Given the description of an element on the screen output the (x, y) to click on. 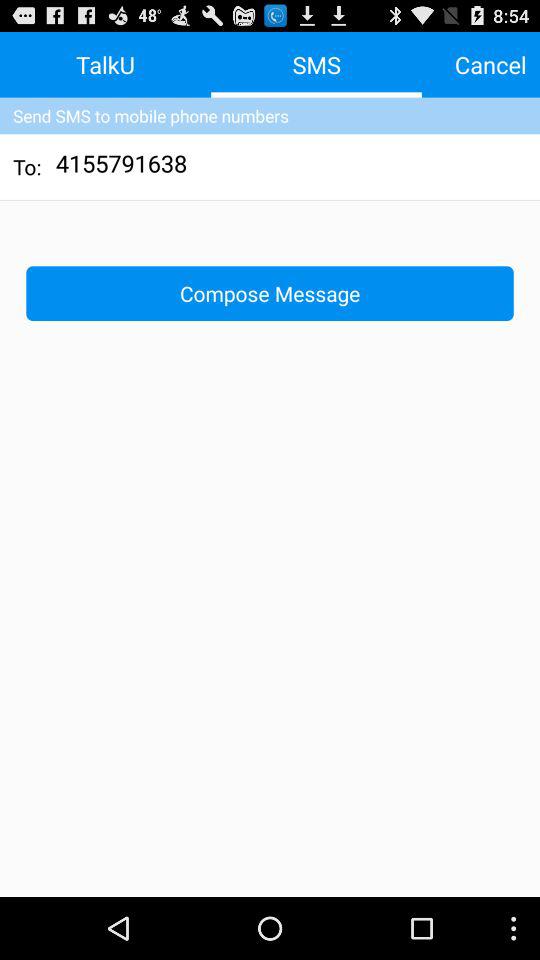
turn off item above the send sms to item (490, 64)
